Given the description of an element on the screen output the (x, y) to click on. 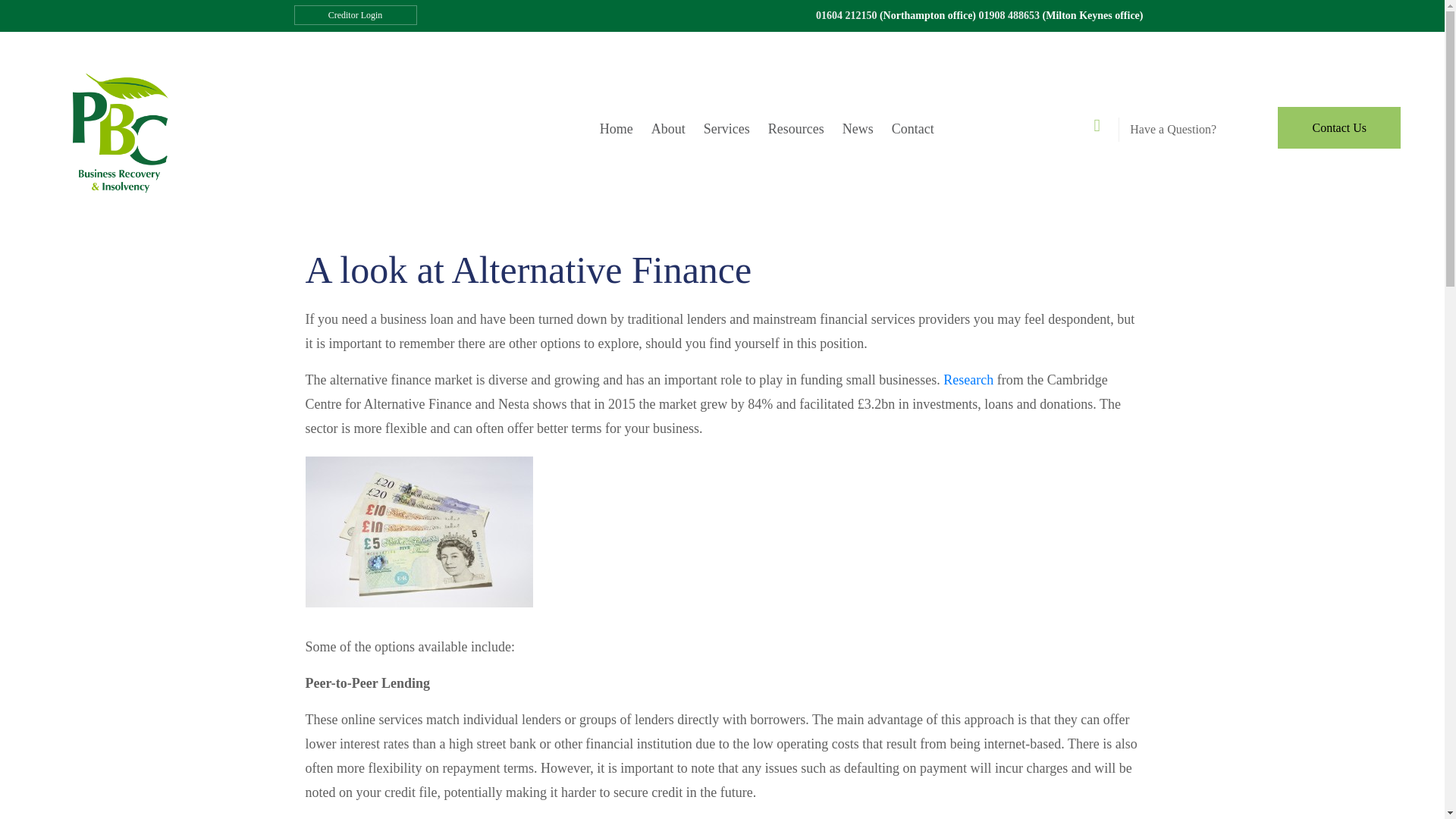
A look at Alternative Finance (527, 269)
Creditor Login (355, 14)
01604 212150 (846, 15)
Home (616, 129)
Services (726, 129)
01908 488653 (1009, 15)
Resources (795, 129)
About (668, 129)
